Given the description of an element on the screen output the (x, y) to click on. 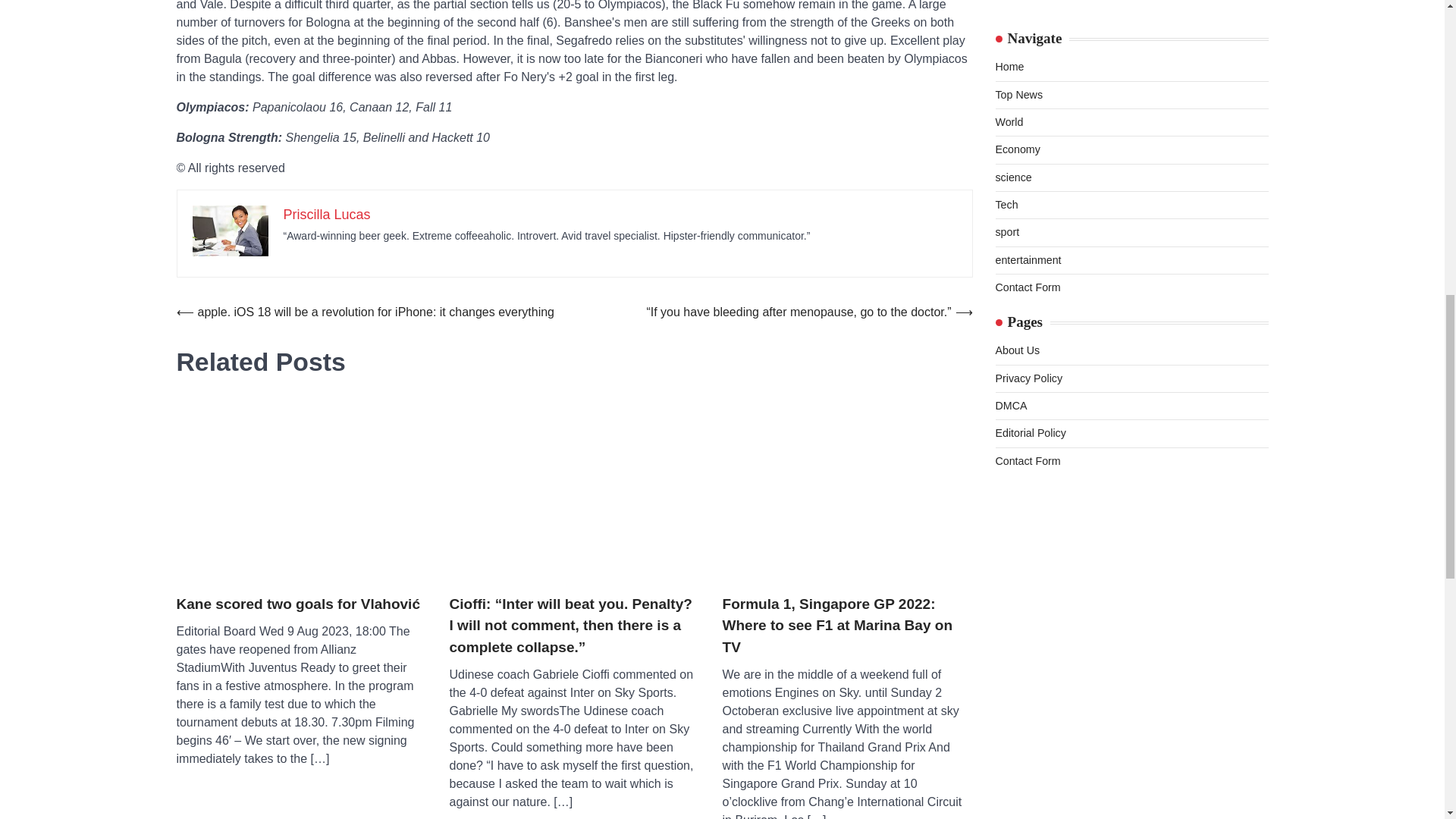
Priscilla Lucas (327, 214)
